Given the description of an element on the screen output the (x, y) to click on. 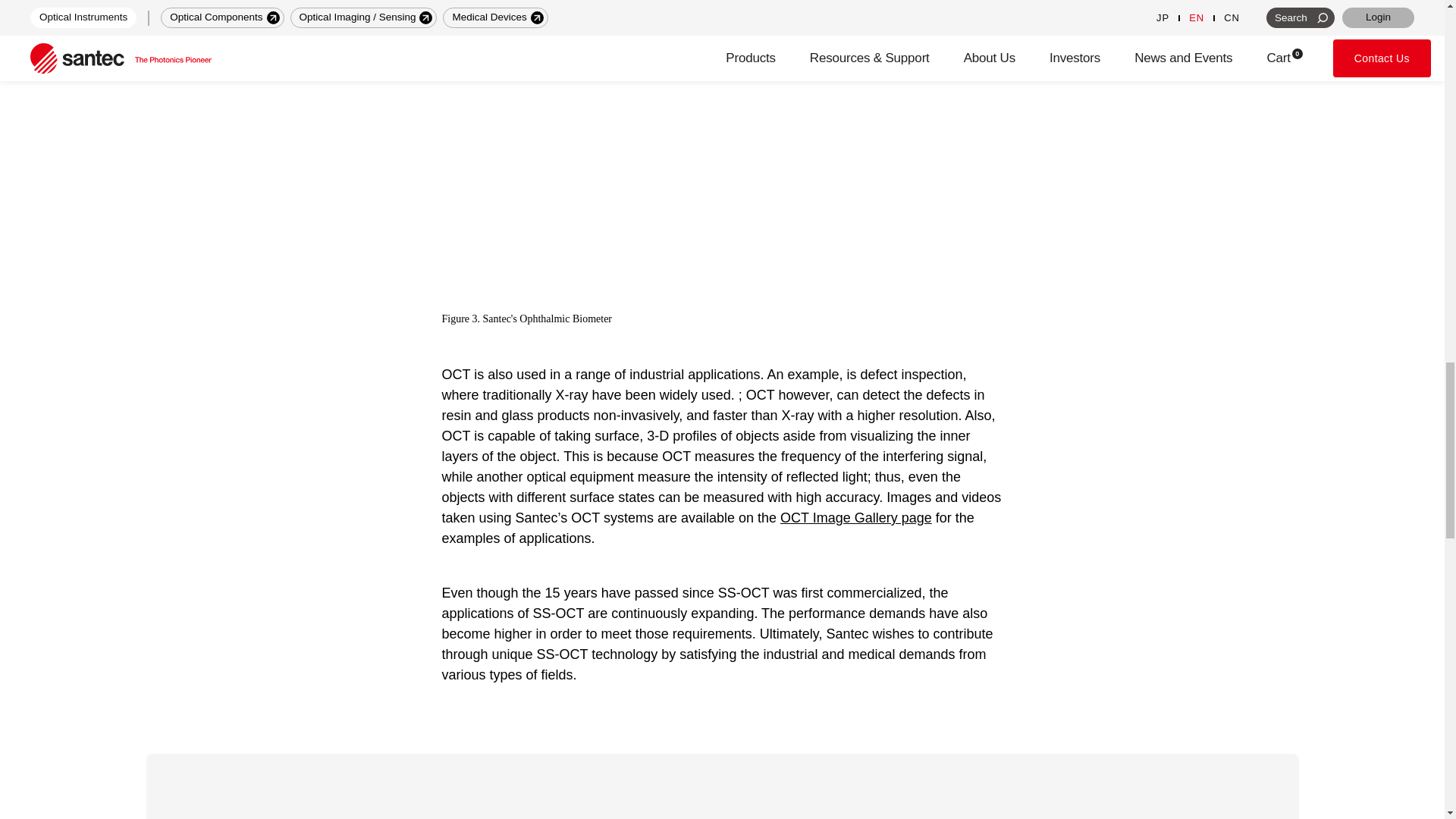
OCT Image Gallery (855, 517)
movu (587, 7)
